Given the description of an element on the screen output the (x, y) to click on. 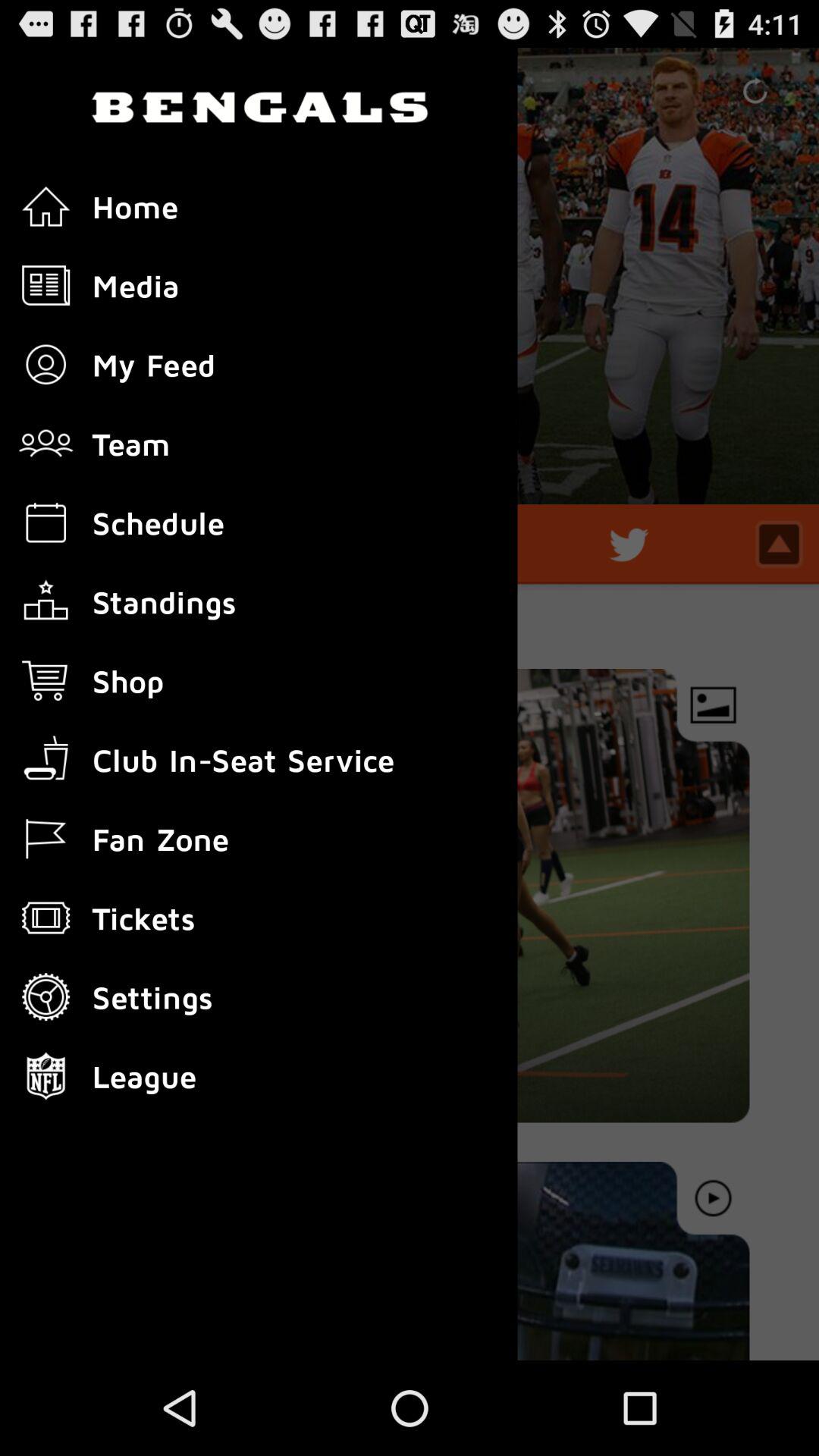
icon left to the text shop (45, 681)
icon above flag icon in the list (45, 760)
select the sixth icon in bengals (45, 601)
click on refresh which is below time (755, 90)
click on third option icon from bottom left corner (45, 918)
